Given the description of an element on the screen output the (x, y) to click on. 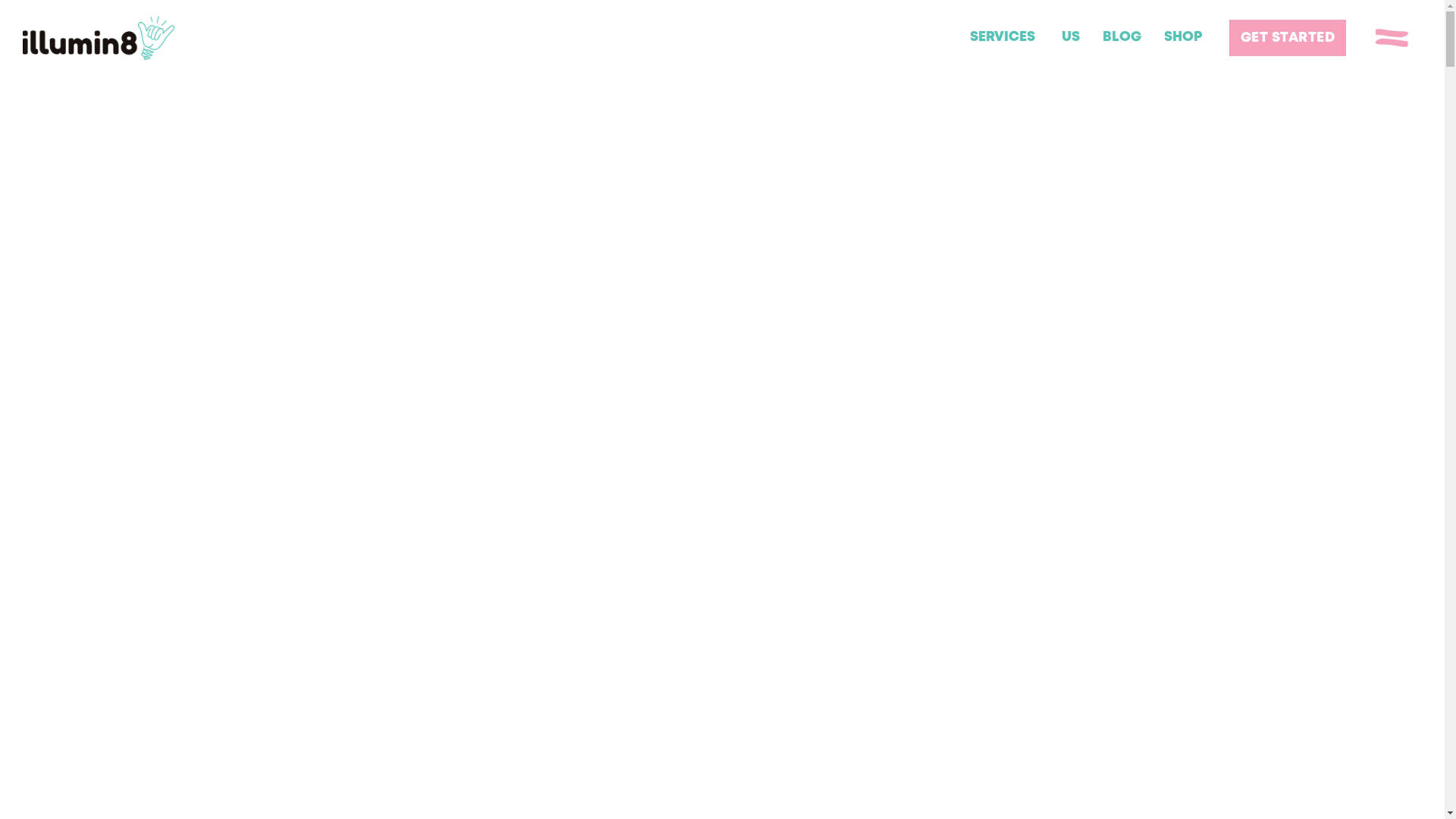
BLOG Element type: text (1120, 37)
US Element type: text (1069, 37)
SERVICES Element type: text (1002, 37)
GET STARTED Element type: text (1287, 37)
SHOP Element type: text (1183, 37)
